Given the description of an element on the screen output the (x, y) to click on. 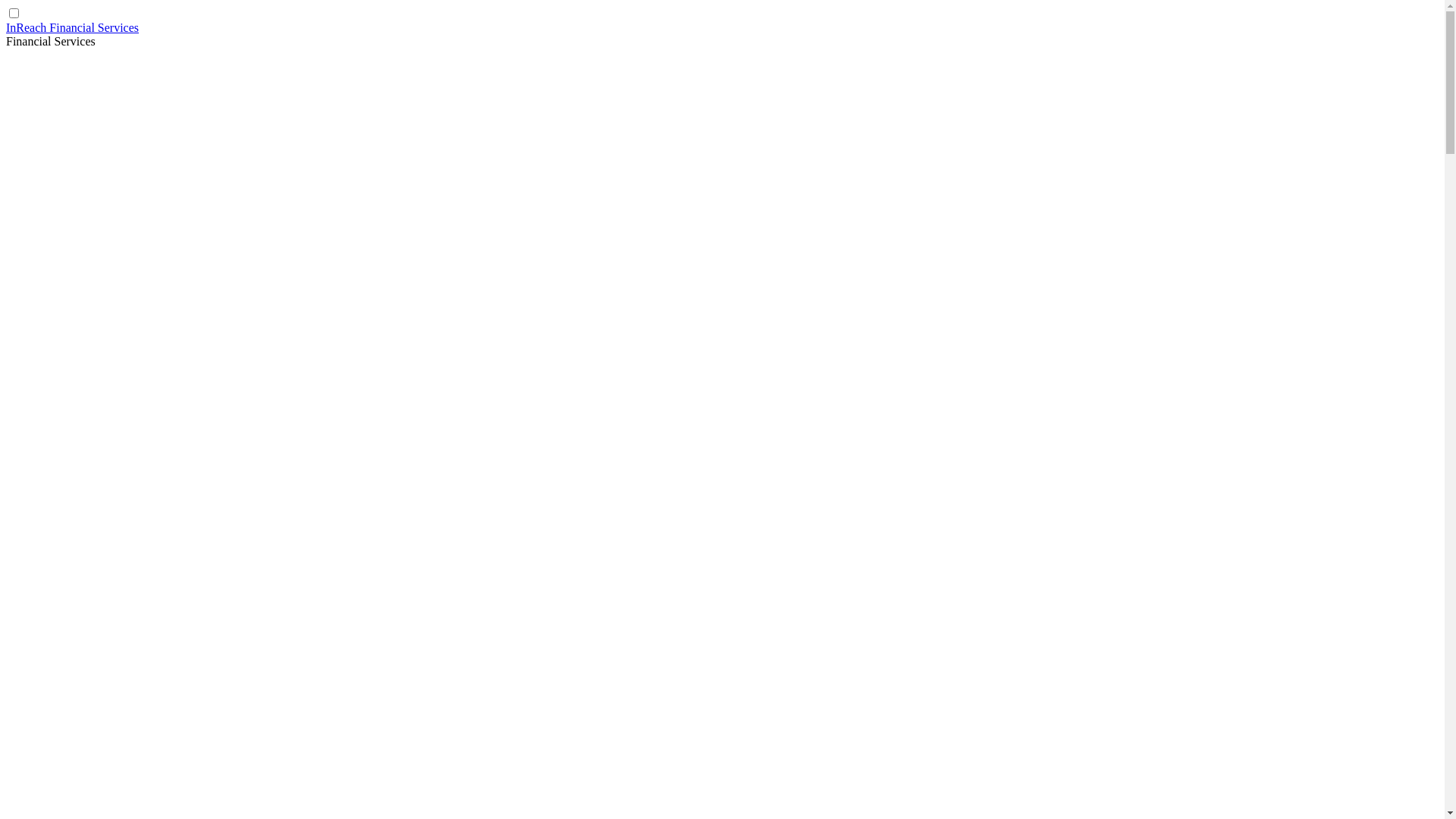
InReach Financial Services Element type: text (72, 27)
